Given the description of an element on the screen output the (x, y) to click on. 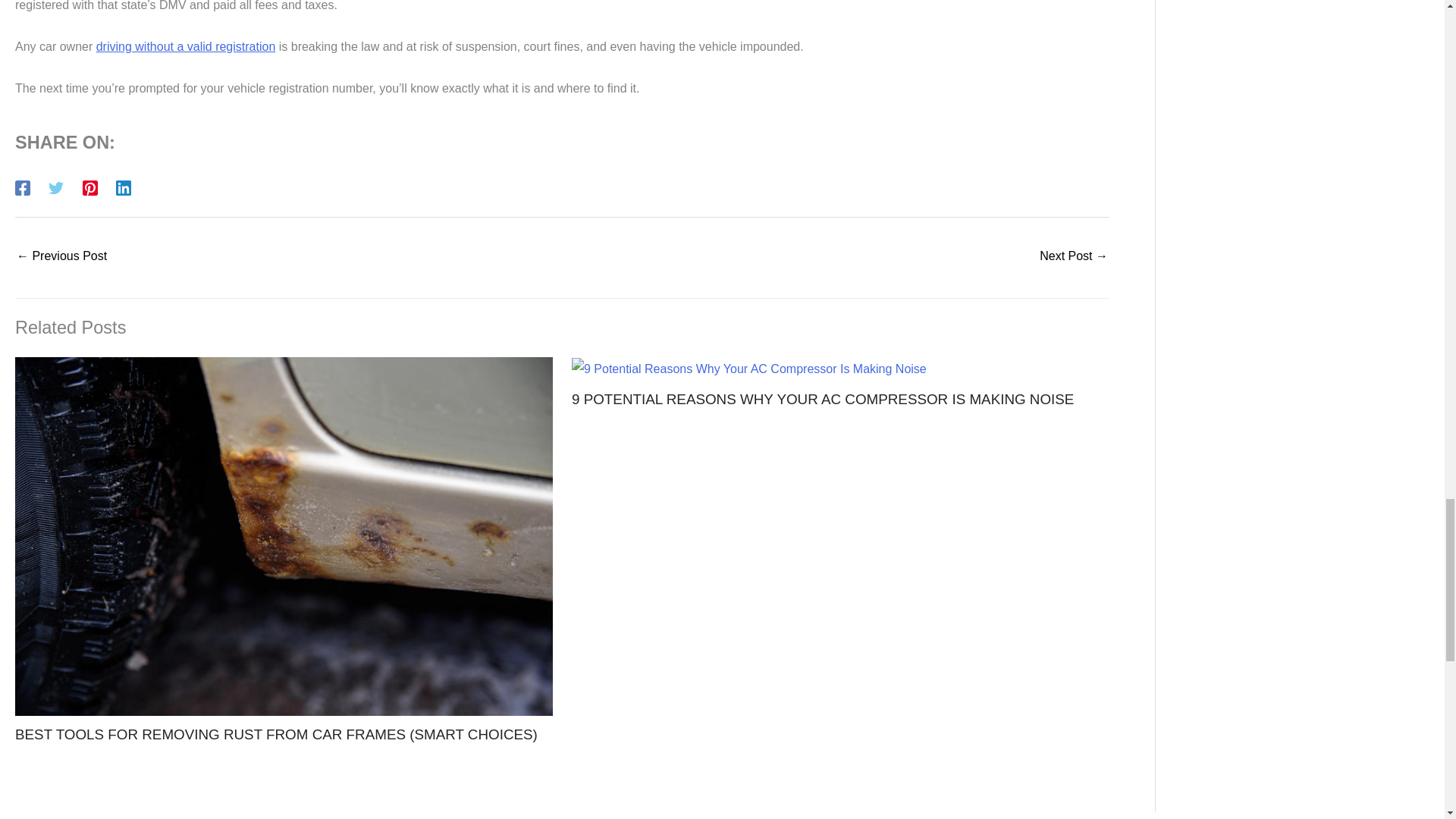
Can You Push Start an Automatic Car With a Dead Battery? (61, 257)
How to Fix a Seatbelt That Is Stuck (1073, 257)
driving without a valid registration (186, 46)
